Given the description of an element on the screen output the (x, y) to click on. 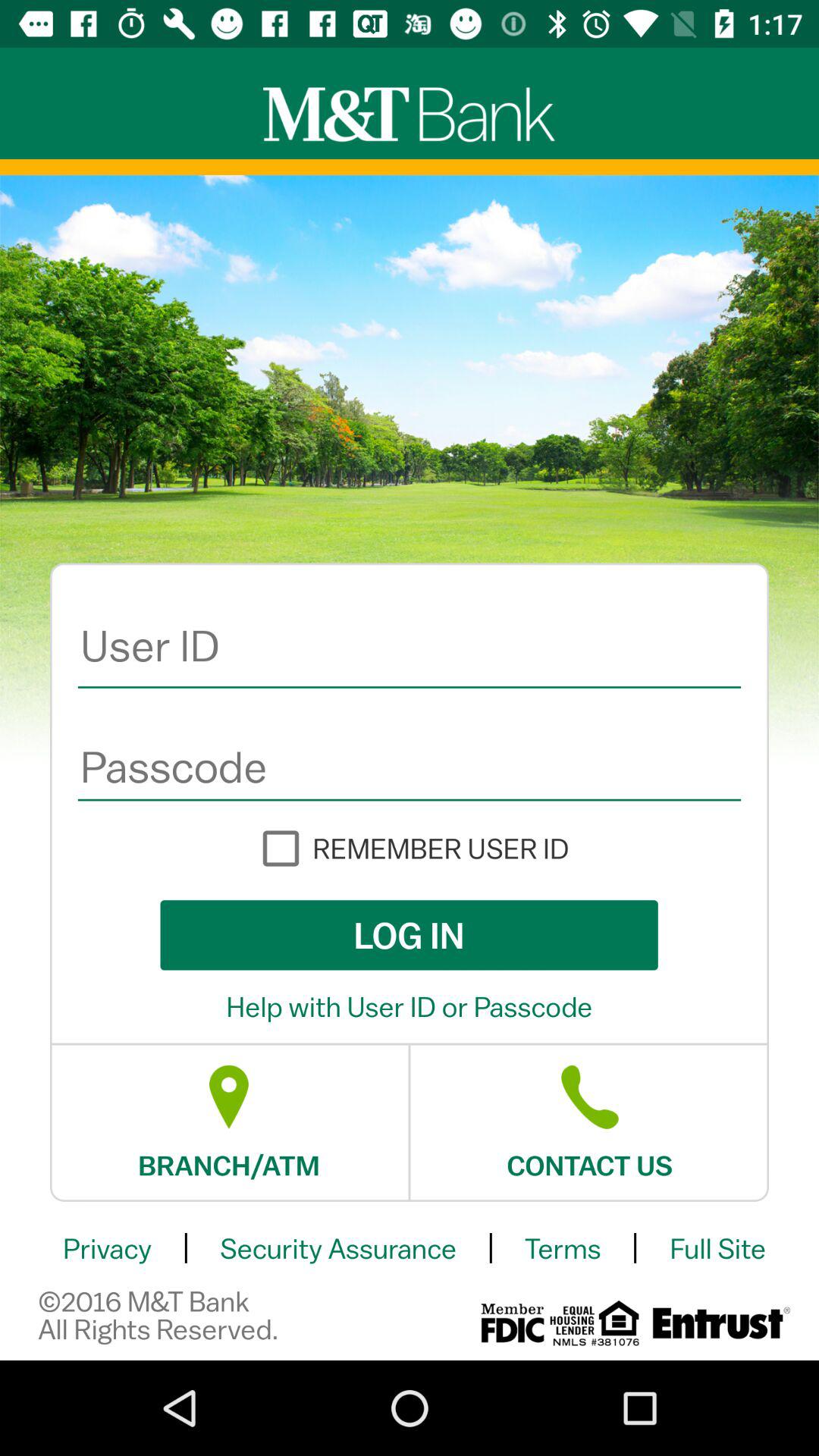
open item below the log in item (409, 1006)
